Given the description of an element on the screen output the (x, y) to click on. 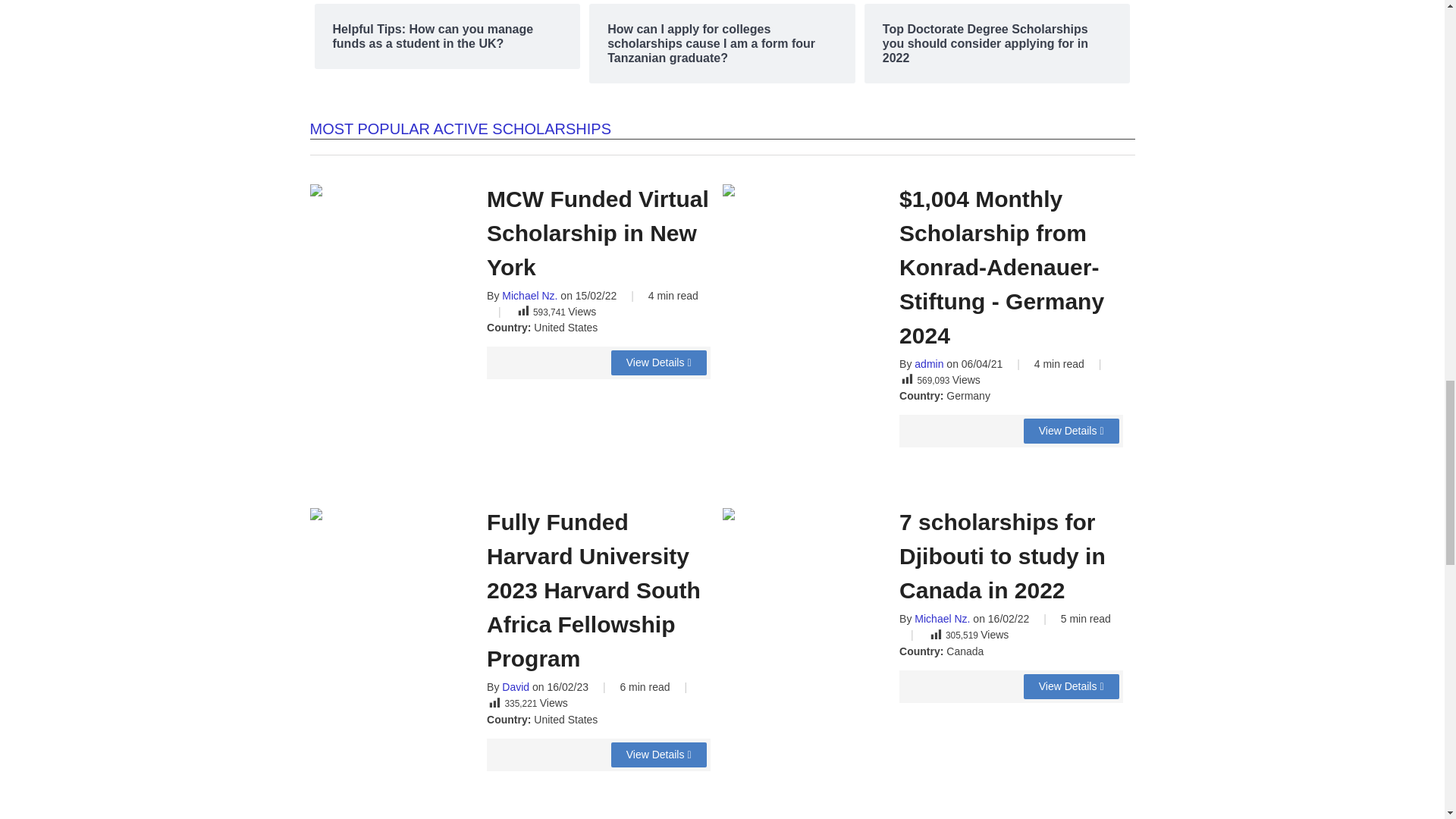
MCW Funded Virtual Scholarship in New York (658, 362)
7 scholarships for Djibouti to study in Canada in 2022 (1071, 686)
